Given the description of an element on the screen output the (x, y) to click on. 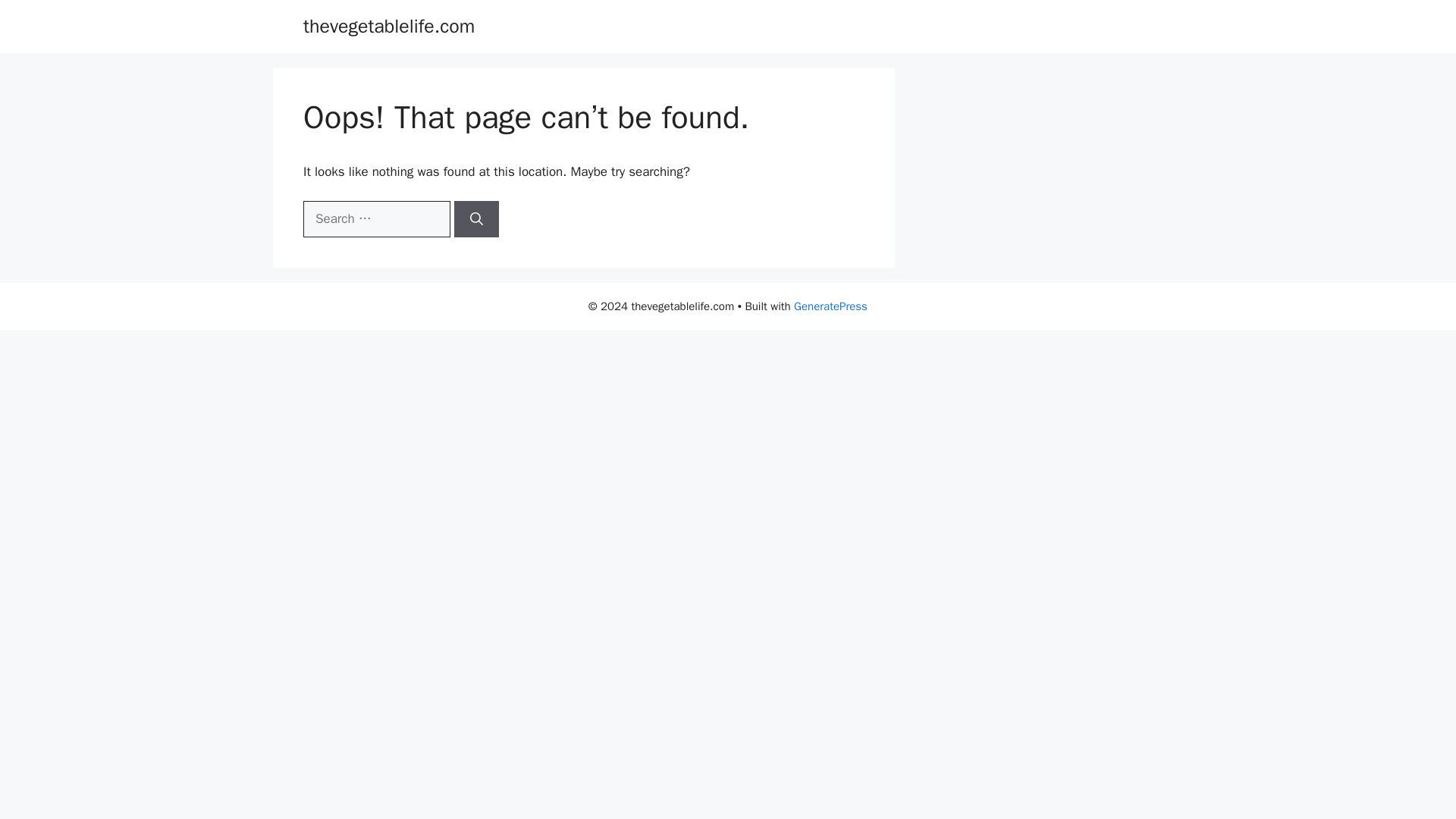
Search for: (375, 218)
thevegetablelife.com (388, 25)
GeneratePress (830, 305)
